Given the description of an element on the screen output the (x, y) to click on. 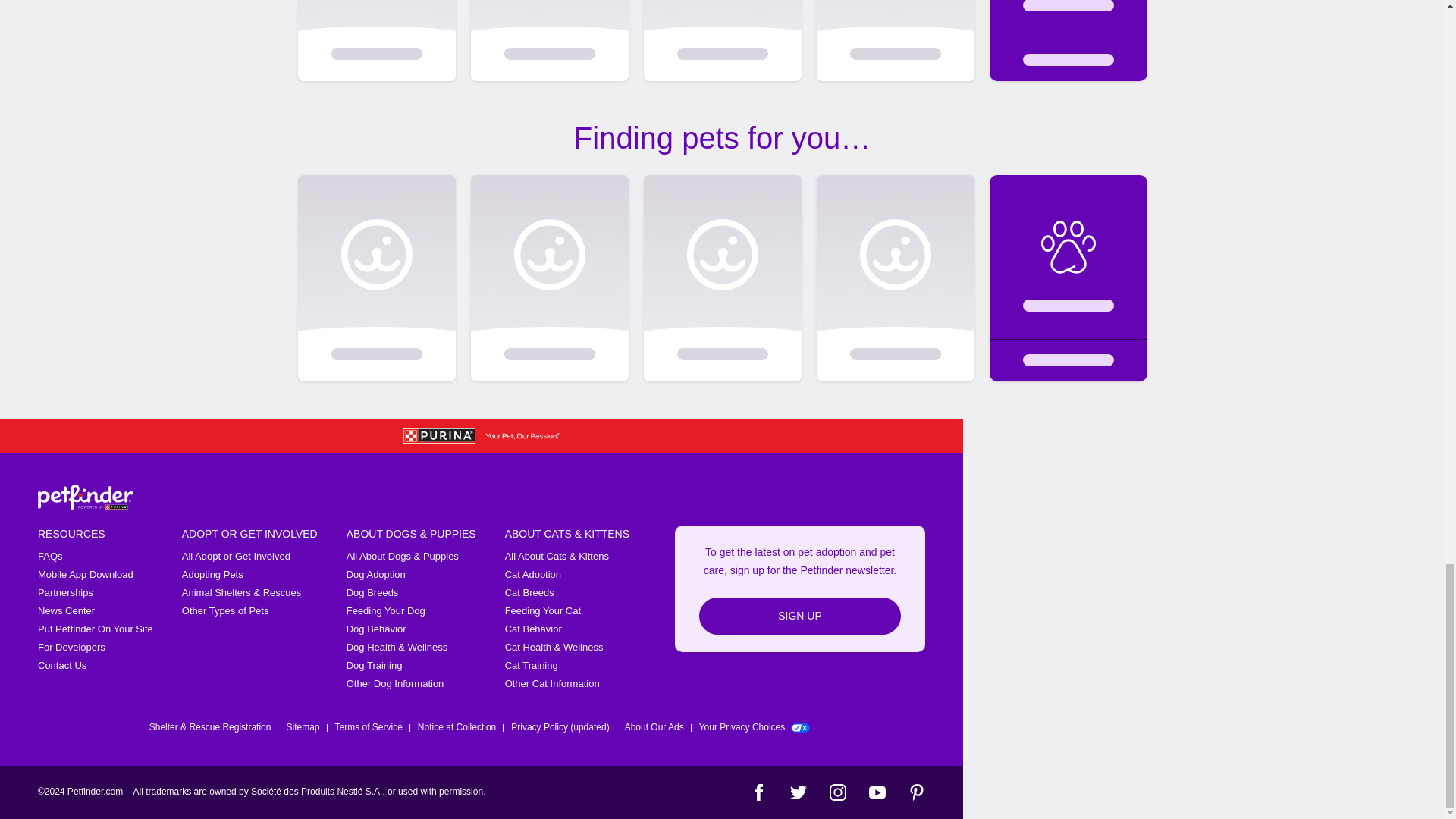
Instagram (837, 791)
Twitter (798, 791)
Petfinder Logo (85, 497)
Facebook (759, 791)
